Given the description of an element on the screen output the (x, y) to click on. 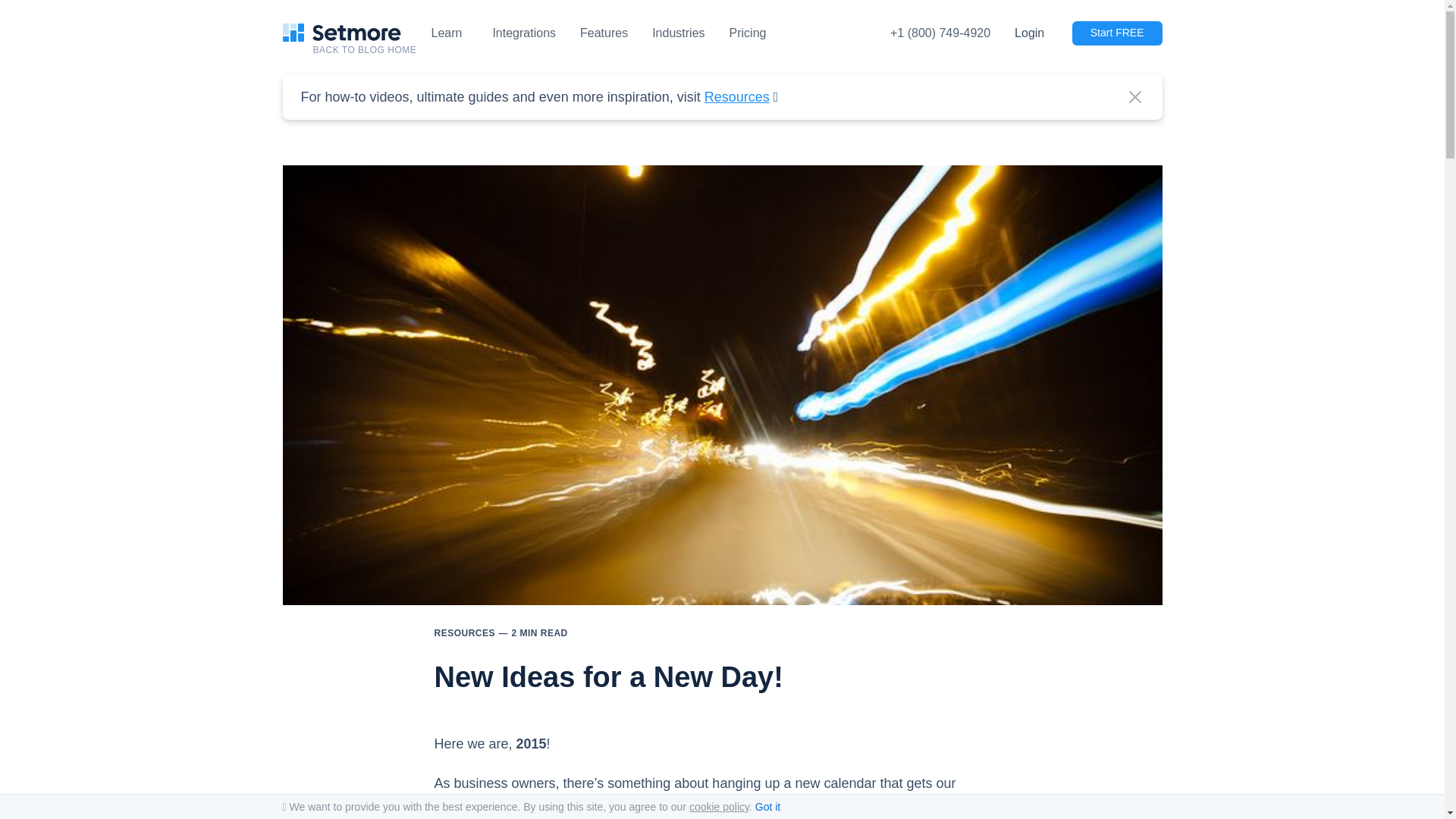
New Ideas for a New Day! (608, 676)
Learn (445, 33)
Features (603, 33)
New Ideas for a New Day! (721, 600)
Integrations (524, 33)
BACK TO BLOG HOME (371, 49)
